Given the description of an element on the screen output the (x, y) to click on. 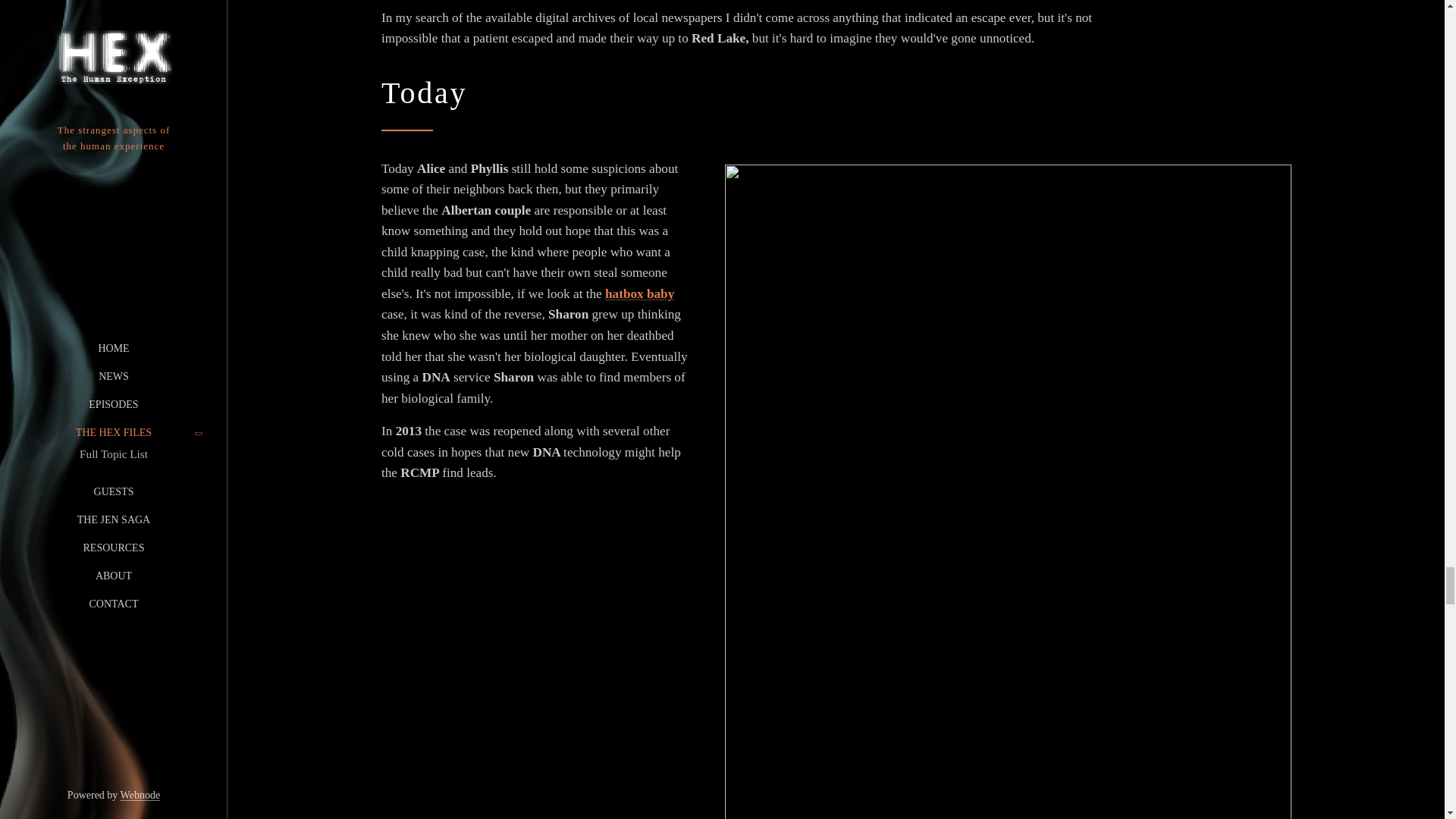
baby (659, 293)
hatbox (625, 293)
